Given the description of an element on the screen output the (x, y) to click on. 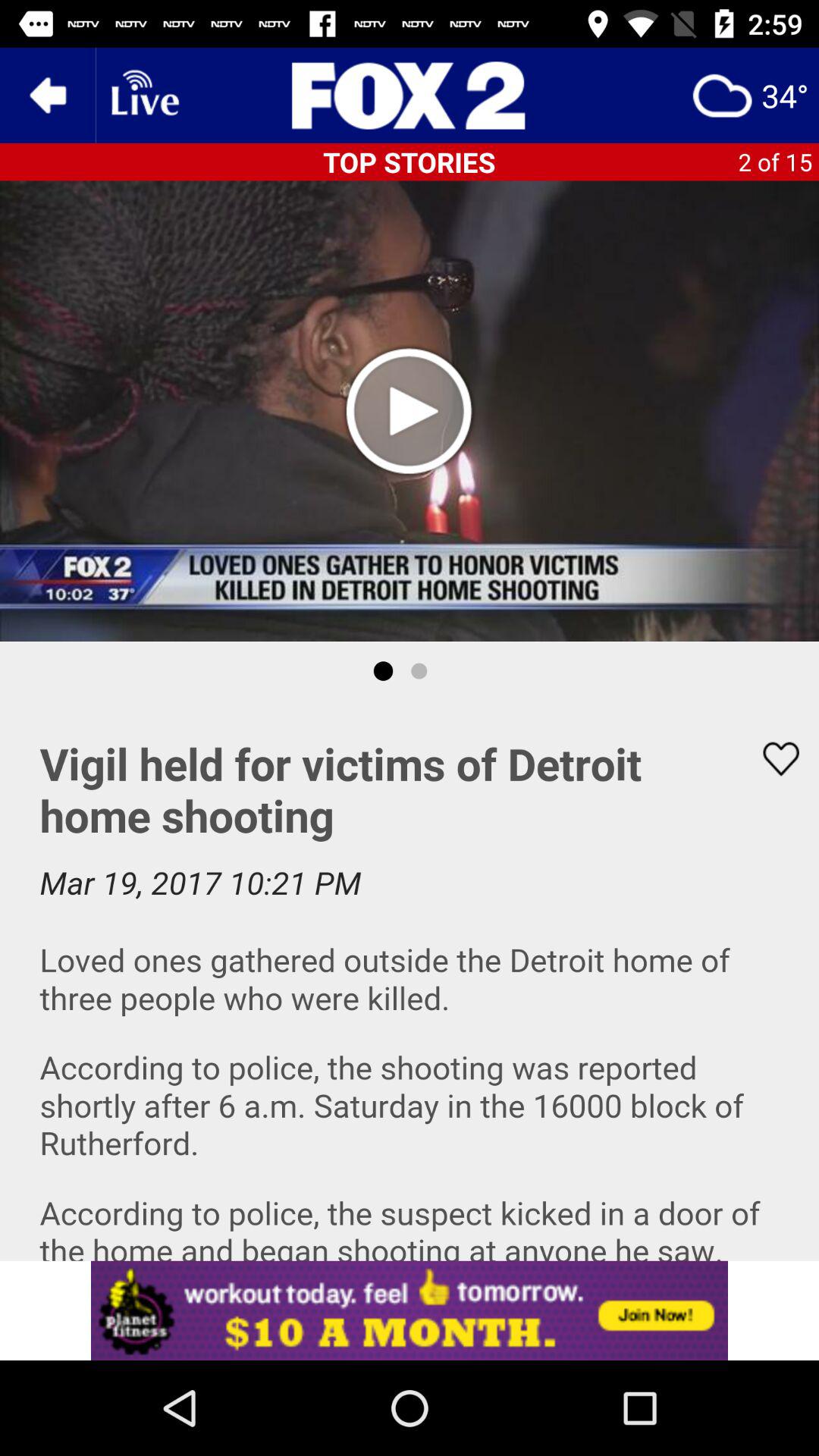
click live option (143, 95)
